Given the description of an element on the screen output the (x, y) to click on. 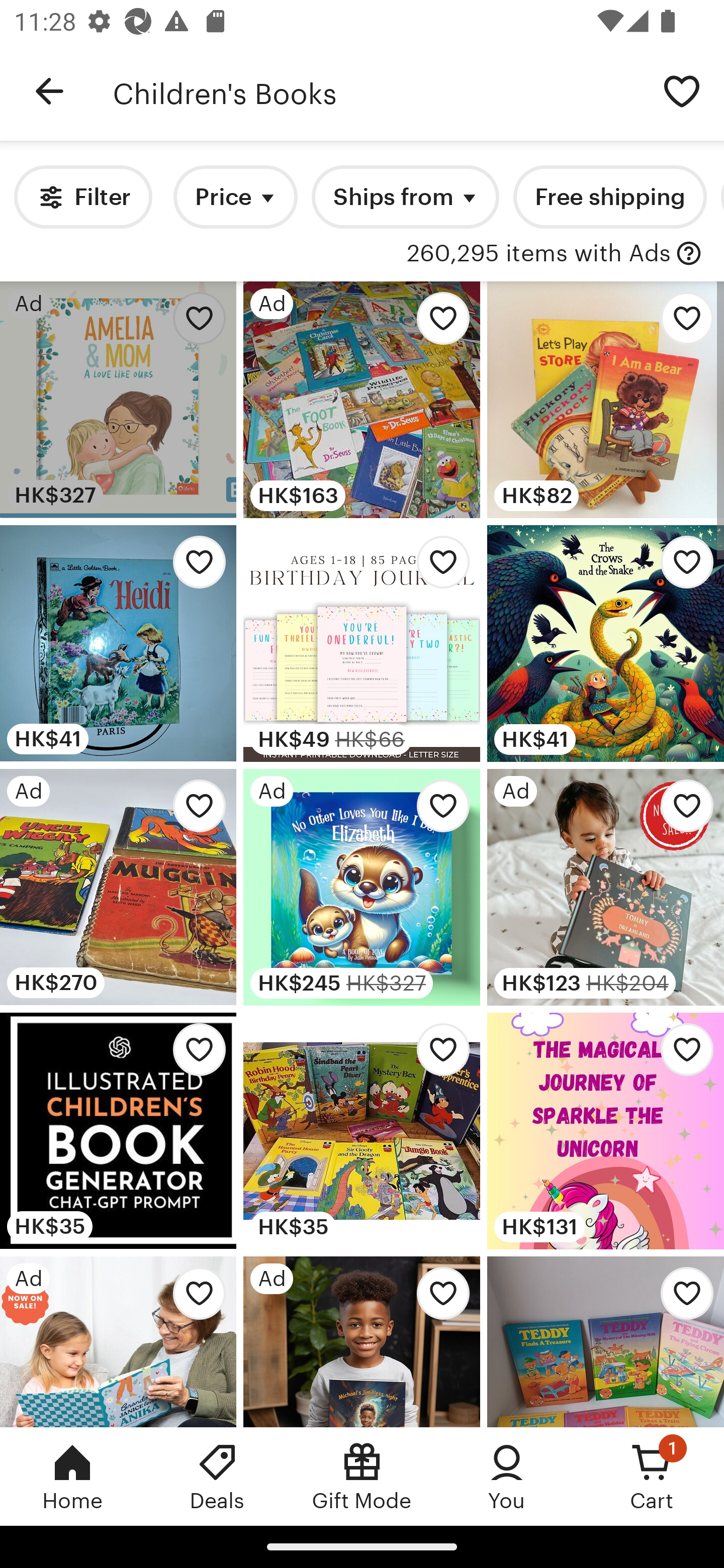
Navigate up (49, 91)
Save search (681, 90)
Children's Books (375, 91)
Filter (82, 197)
Price (235, 197)
Ships from (405, 197)
Free shipping (609, 197)
260,295 items with Ads (538, 253)
with Ads (688, 253)
Deals (216, 1475)
Gift Mode (361, 1475)
You (506, 1475)
Cart, 1 new notification Cart (651, 1475)
